Given the description of an element on the screen output the (x, y) to click on. 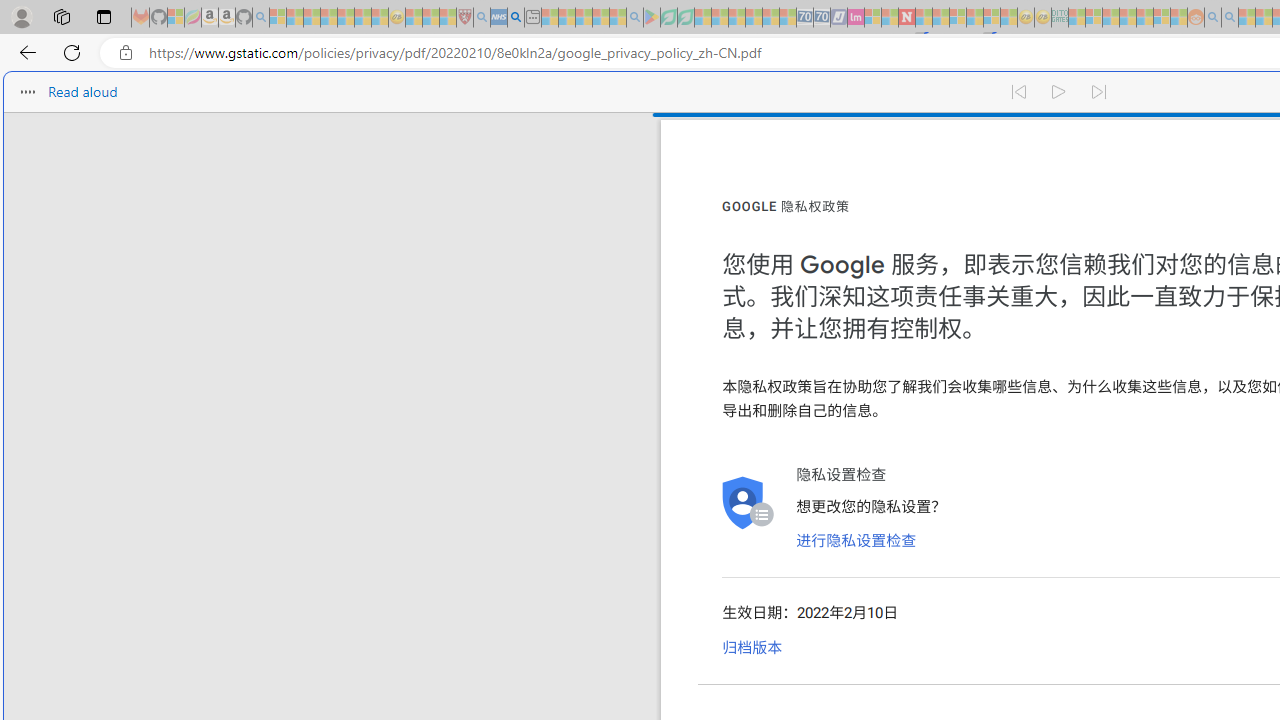
Continue to read aloud (Ctrl+Shift+U) (1059, 92)
